Given the description of an element on the screen output the (x, y) to click on. 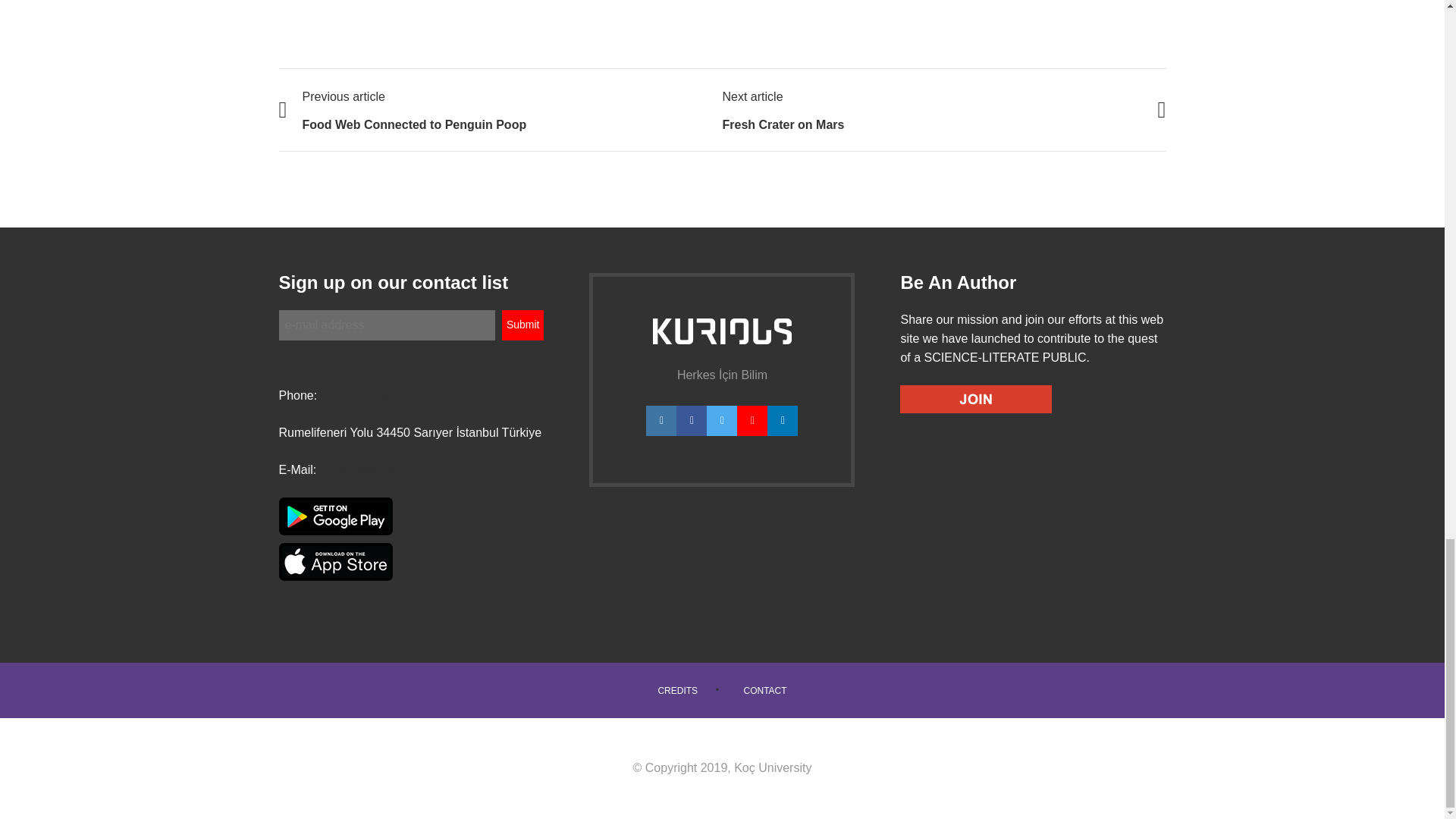
Submit (523, 325)
